Given the description of an element on the screen output the (x, y) to click on. 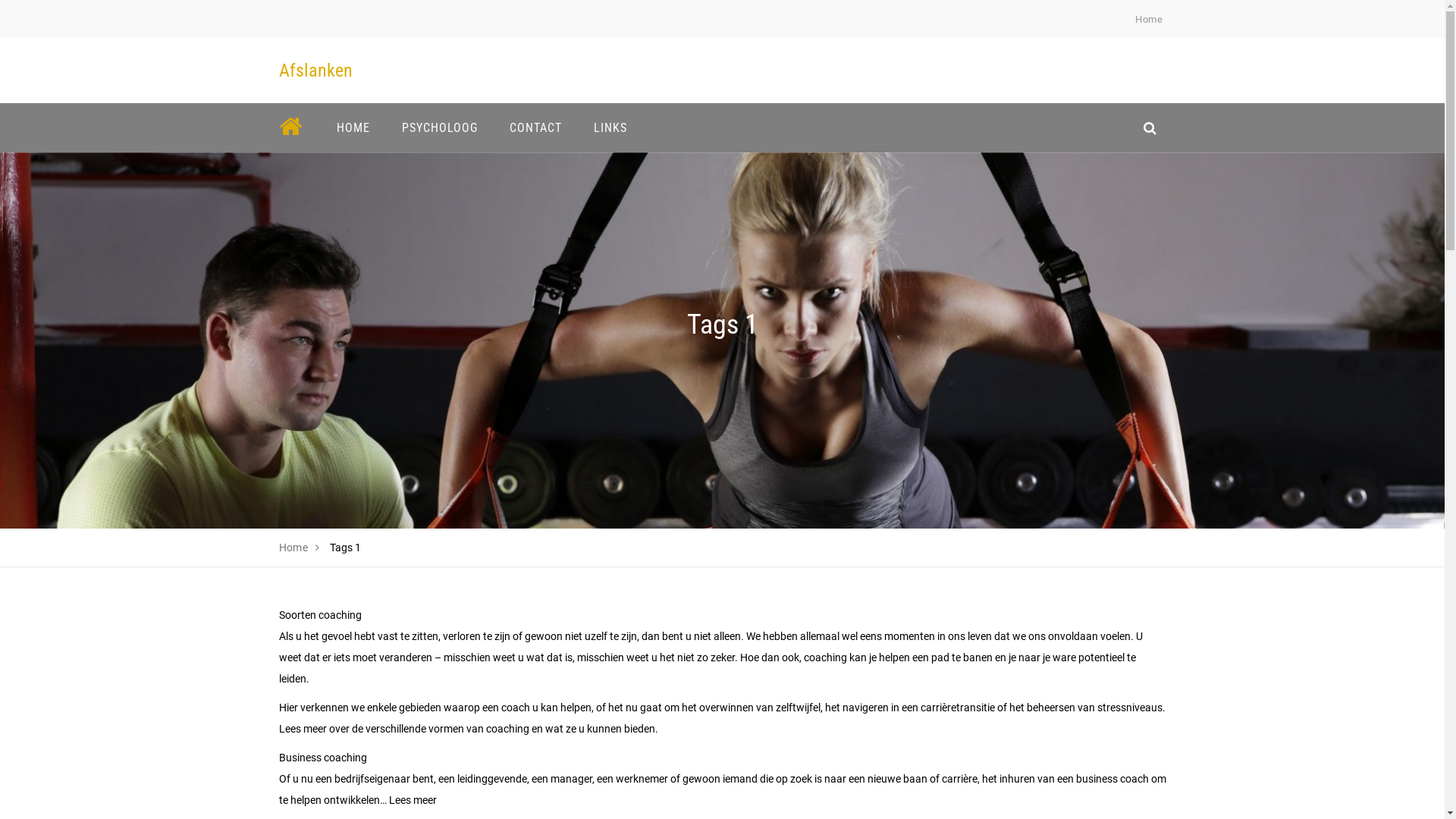
search_icon Element type: hover (1148, 127)
HOME Element type: text (352, 127)
Home Element type: text (293, 547)
Afslanken Element type: text (315, 70)
CONTACT Element type: text (534, 127)
PSYCHOLOOG Element type: text (438, 127)
Home Element type: text (1148, 19)
LINKS Element type: text (610, 127)
